Given the description of an element on the screen output the (x, y) to click on. 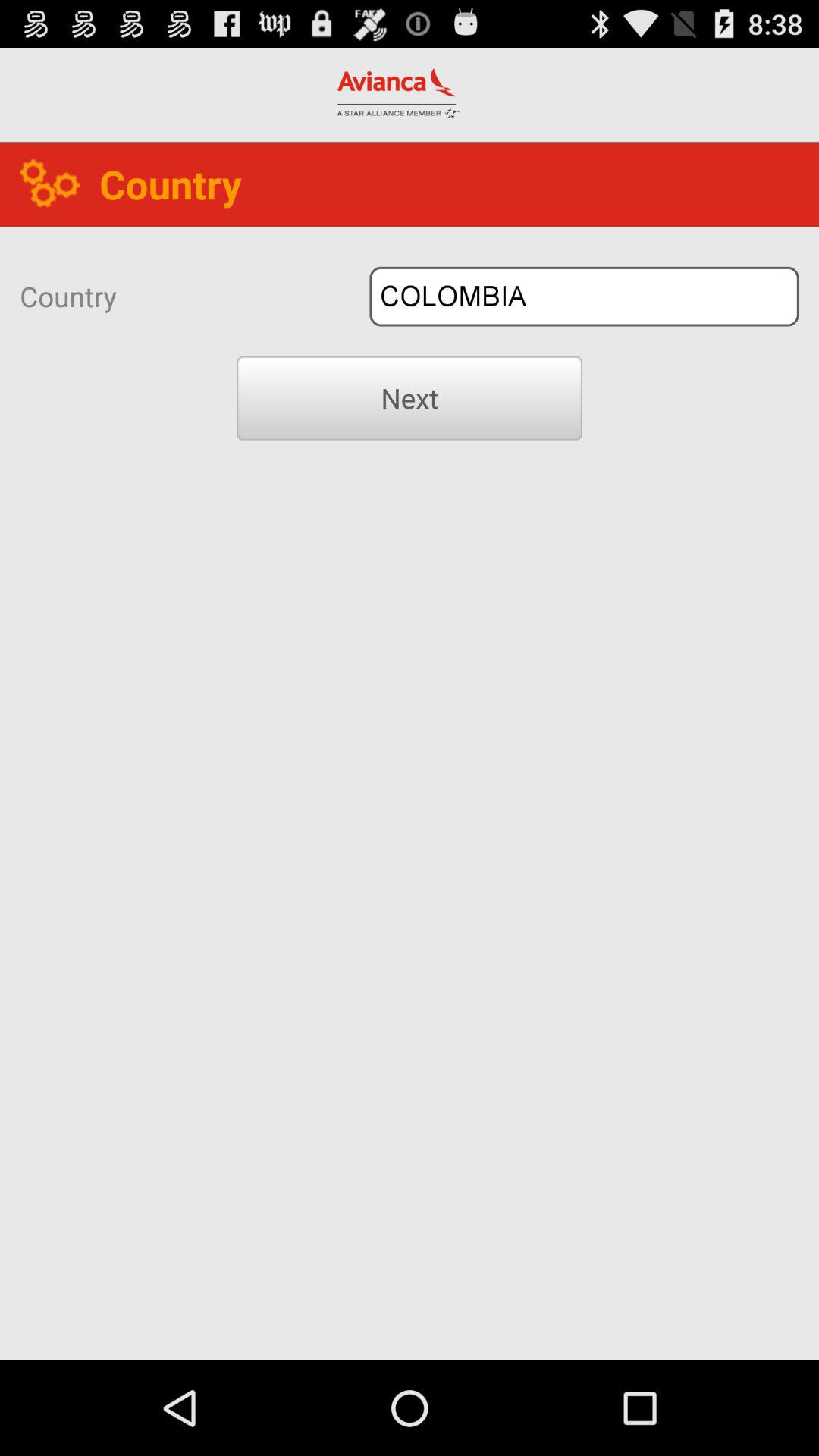
turn off icon at the top right corner (584, 296)
